Given the description of an element on the screen output the (x, y) to click on. 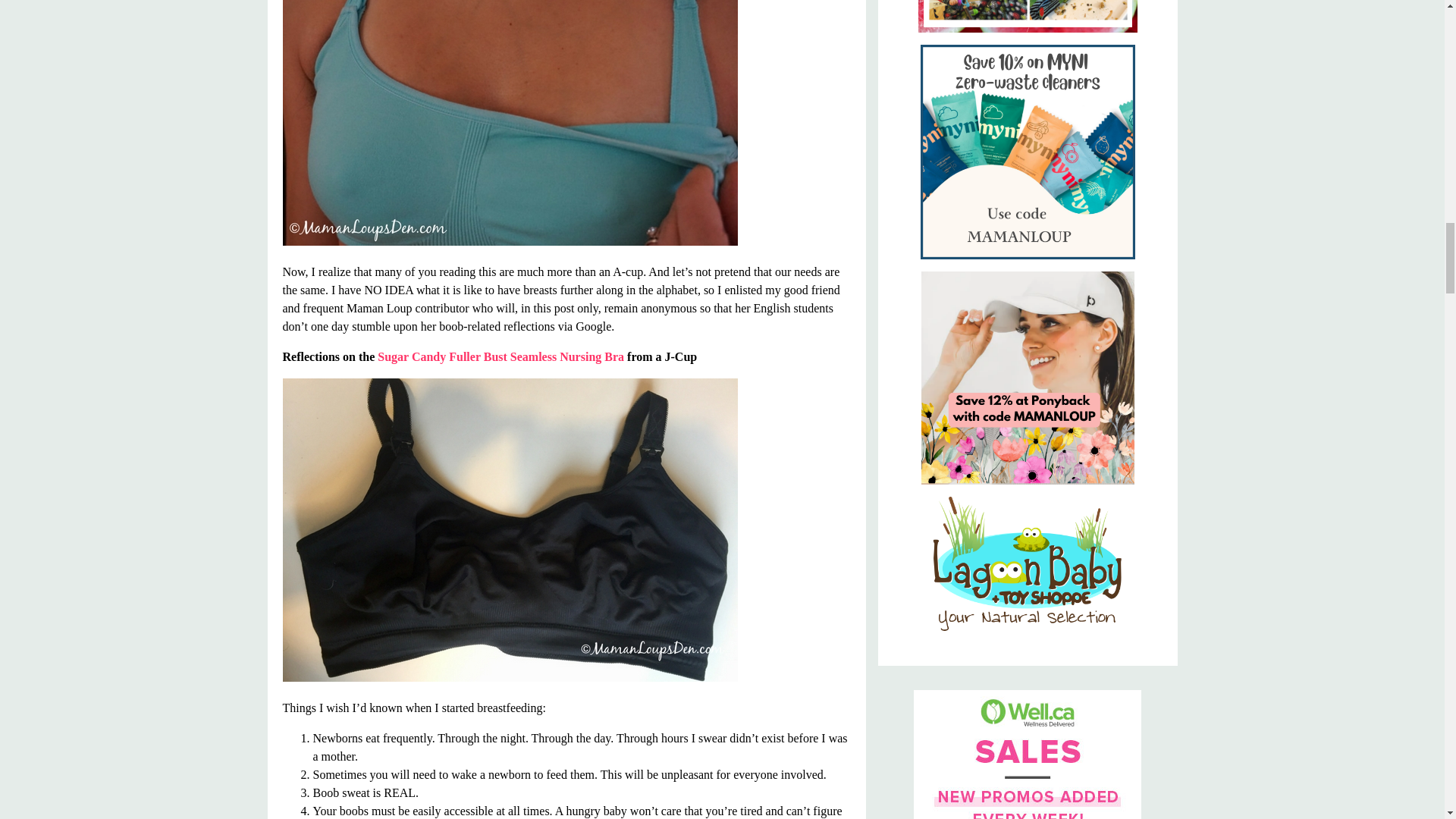
Sugar Candy Fuller Bust Seamless Nursing Bra (500, 356)
